Given the description of an element on the screen output the (x, y) to click on. 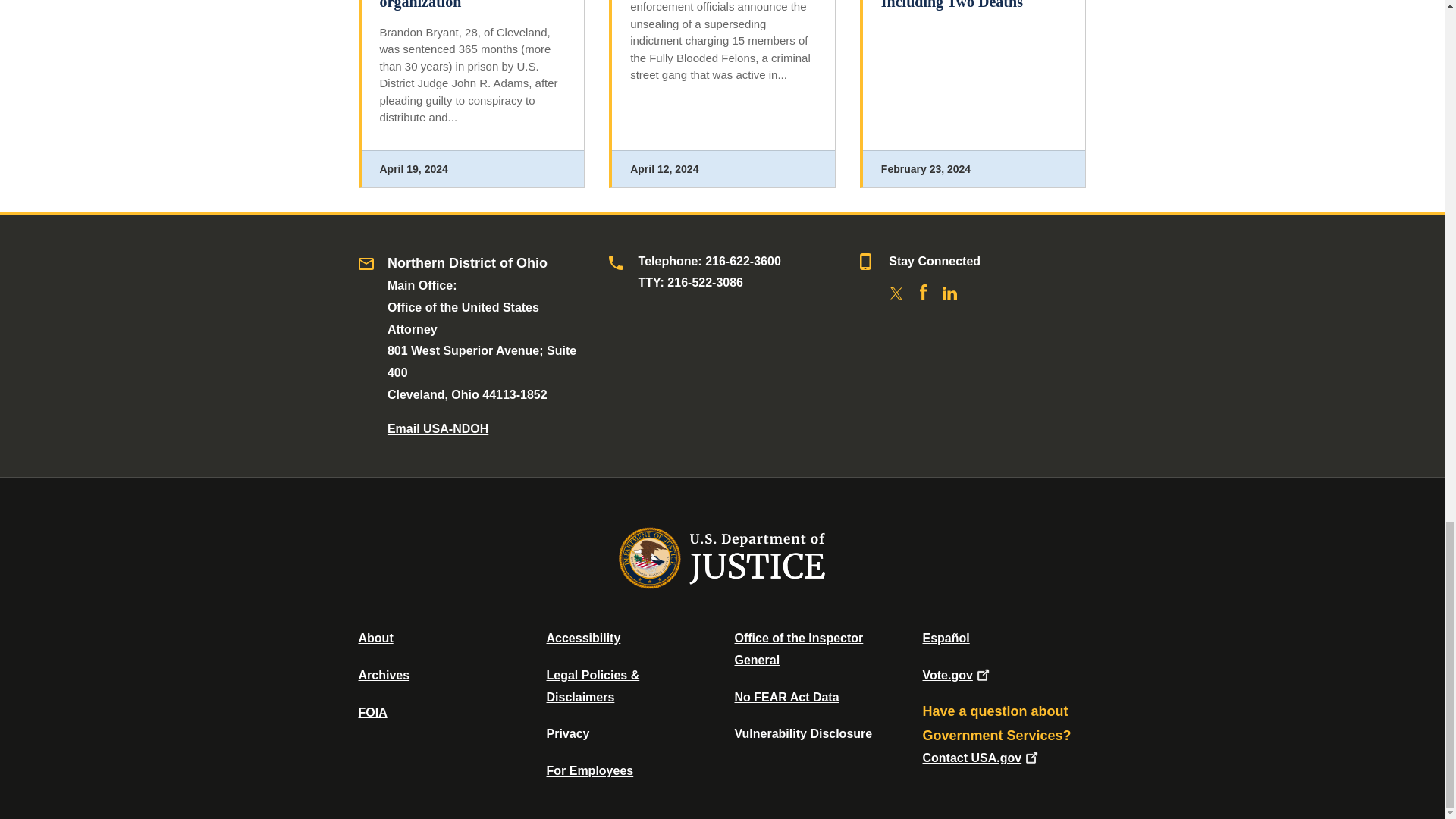
Legal Policies and Disclaimers (592, 686)
About DOJ (375, 637)
For Employees (589, 770)
Office of Information Policy (372, 712)
Department of Justice Archive (383, 675)
Data Posted Pursuant To The No Fear Act (785, 697)
Accessibility Statement (583, 637)
